Given the description of an element on the screen output the (x, y) to click on. 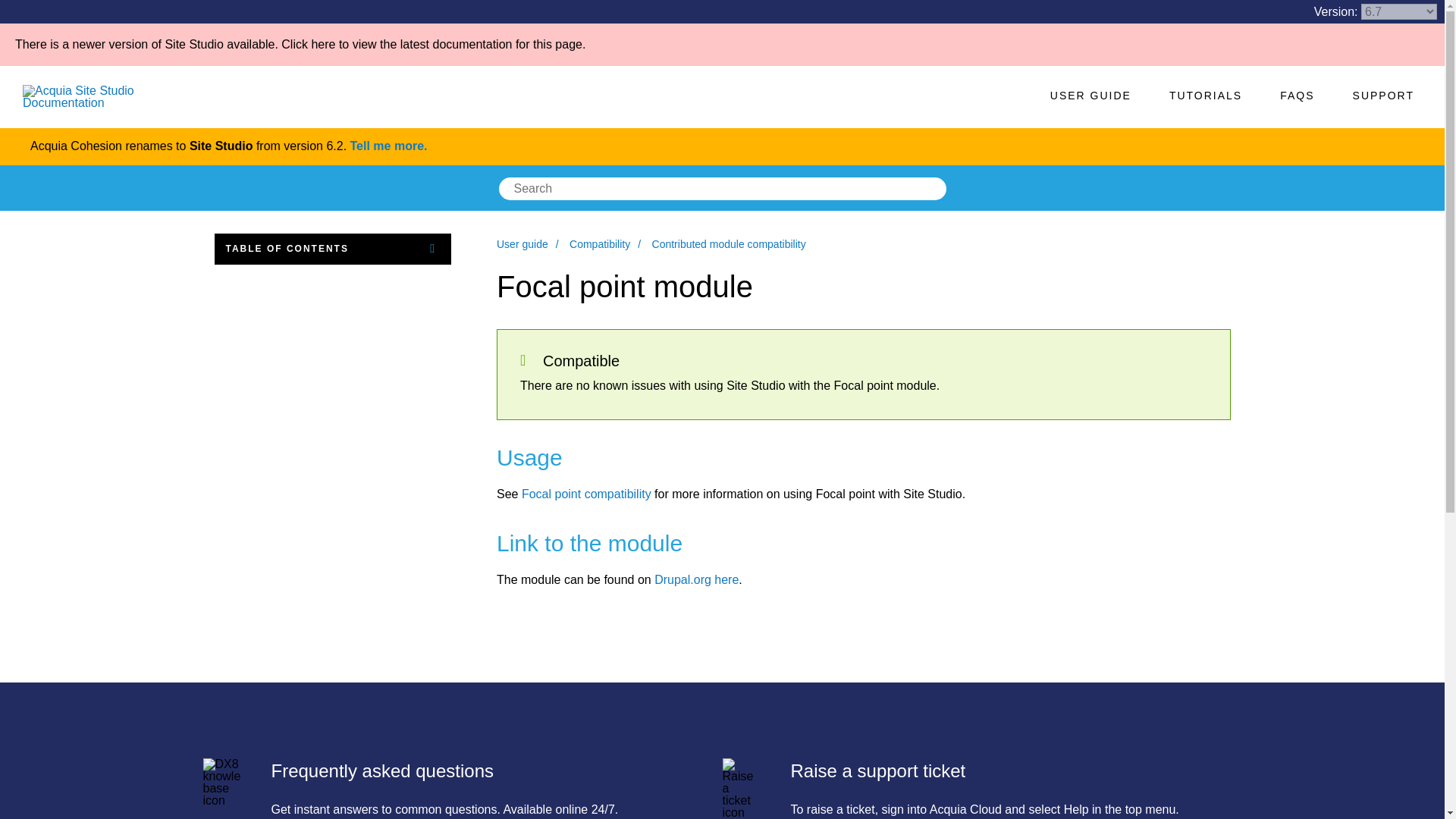
Search (940, 187)
Acquia Site Studio Documentation (117, 96)
Tell me more. (389, 145)
USER GUIDE (1090, 95)
TABLE OF CONTENTS (332, 248)
FAQS (1297, 95)
DX8 knowledge base (222, 782)
Search (940, 187)
Raise a ticket icon (741, 788)
SUPPORT (1383, 95)
TUTORIALS (1205, 95)
